Given the description of an element on the screen output the (x, y) to click on. 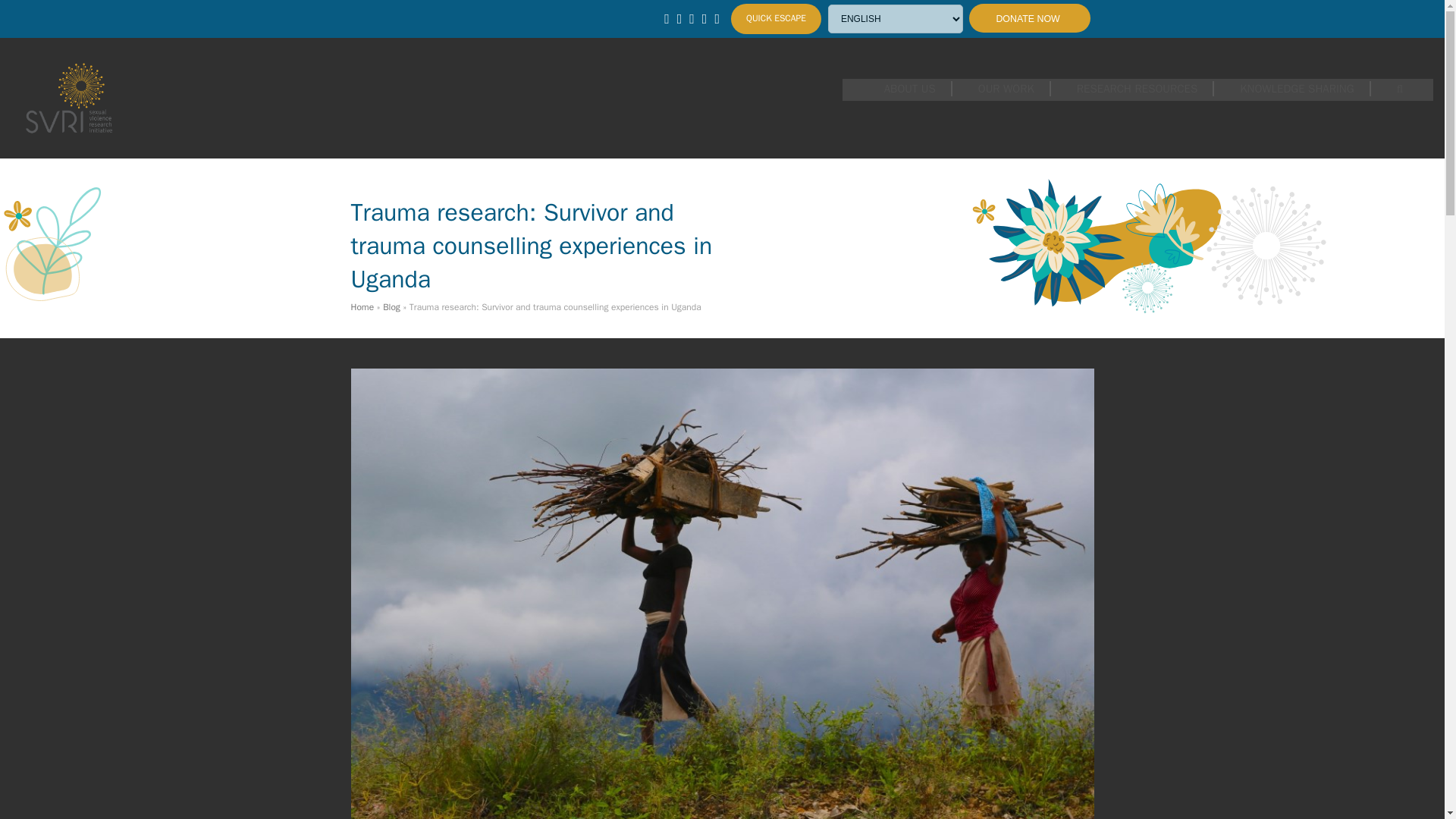
Twitter (679, 18)
YouTube (716, 18)
ABOUT US (909, 88)
OUR WORK (1005, 88)
Facebook (691, 18)
QUICK ESCAPE (775, 18)
Instagram (704, 18)
LinkedIn (666, 18)
